Given the description of an element on the screen output the (x, y) to click on. 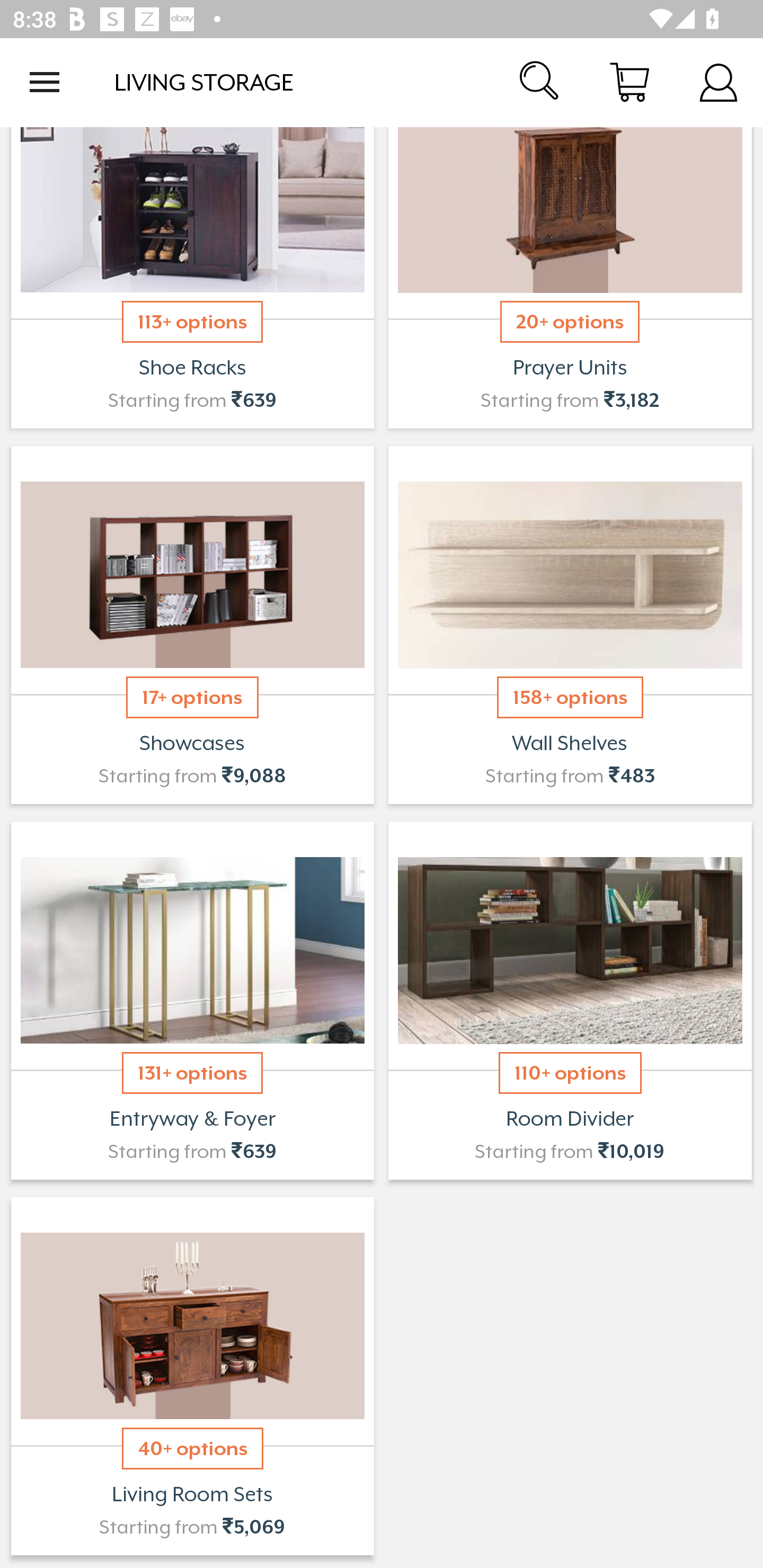
Open navigation drawer (44, 82)
Search (540, 81)
Cart (629, 81)
Account Details (718, 81)
113+ options Shoe Racks Starting from  ₹639 (191, 279)
20+ options Prayer Units Starting from  ₹3,182 (570, 279)
17+ options Showcases Starting from  ₹9,088 (191, 624)
158+ options Wall Shelves Starting from  ₹483 (570, 624)
131+ options Entryway & Foyer Starting from  ₹639 (191, 999)
110+ options Room Divider Starting from  ₹10,019 (570, 999)
40+ options Living Room Sets Starting from  ₹5,069 (191, 1375)
